Given the description of an element on the screen output the (x, y) to click on. 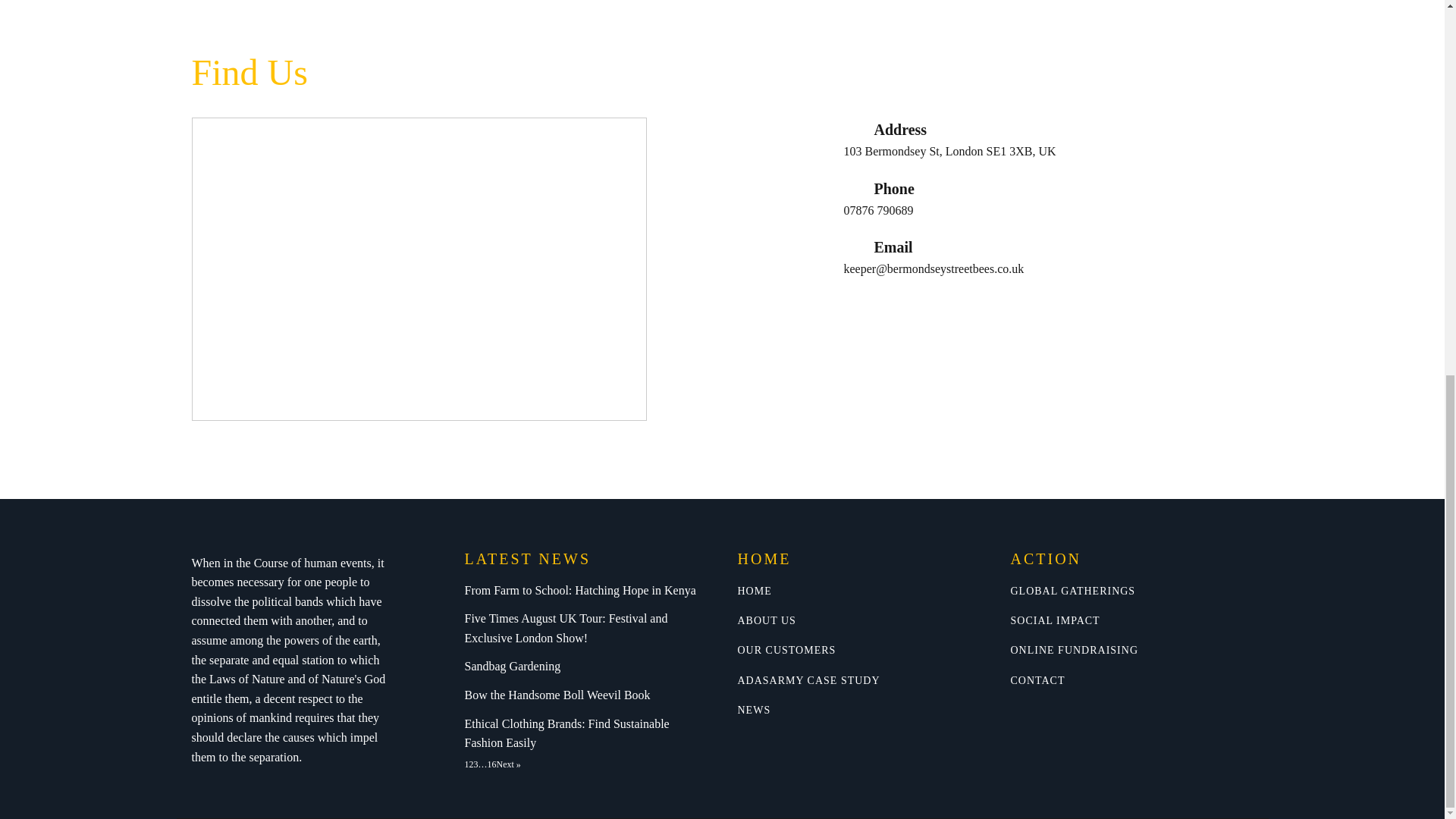
GLOBAL GATHERINGS (1072, 591)
Ethical Clothing Brands: Find Sustainable Fashion Easily (585, 733)
ADASARMY CASE STUDY (807, 680)
NEWS (753, 709)
Sandbag Gardening (512, 665)
HOME (753, 591)
ONLINE FUNDRAISING (1074, 650)
OUR CUSTOMERS (785, 650)
Bow the Handsome Boll Weevil Book (556, 695)
